Given the description of an element on the screen output the (x, y) to click on. 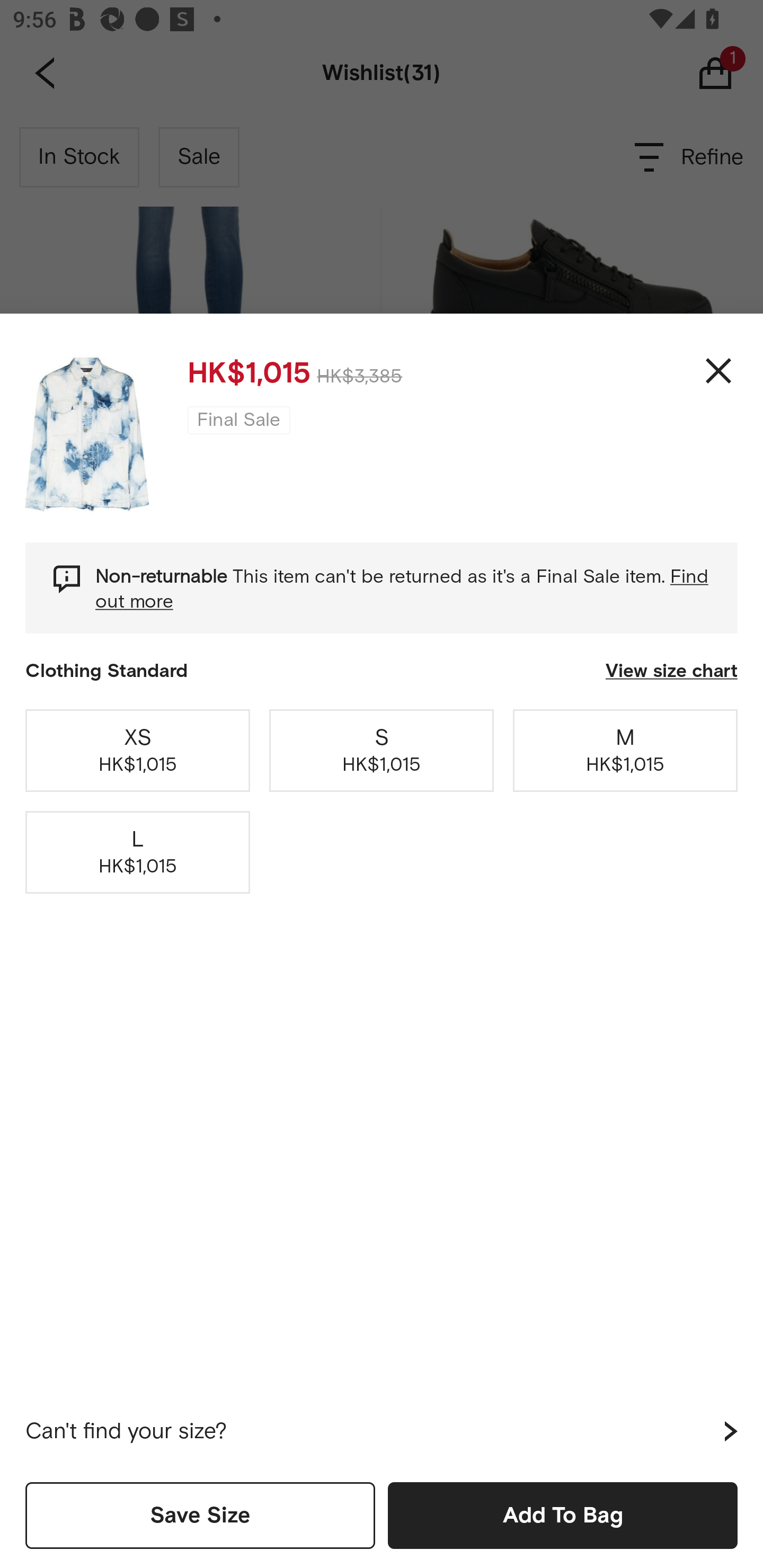
XS HK$1,015 (137, 749)
S HK$1,015 (381, 749)
M HK$1,015 (624, 749)
L HK$1,015 (137, 851)
Can't find your size? (381, 1431)
Save Size (200, 1515)
Add To Bag (562, 1515)
